Given the description of an element on the screen output the (x, y) to click on. 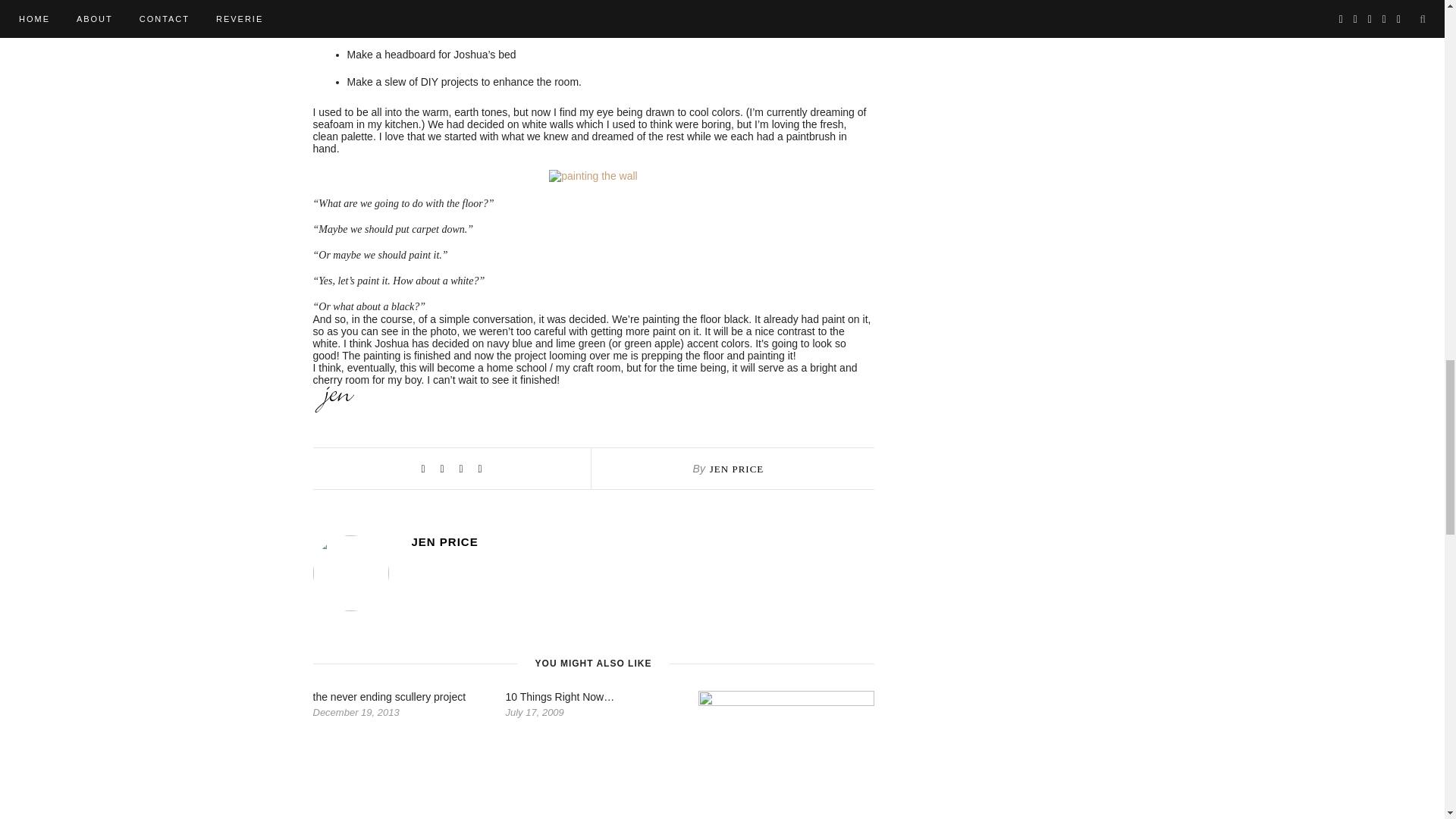
JEN PRICE (641, 541)
the never ending scullery project (389, 696)
Posts by Jen Price (641, 541)
painting the wall by i believe in love, on Flickr (592, 175)
Posts by Jen Price (736, 469)
JEN PRICE (736, 469)
